Given the description of an element on the screen output the (x, y) to click on. 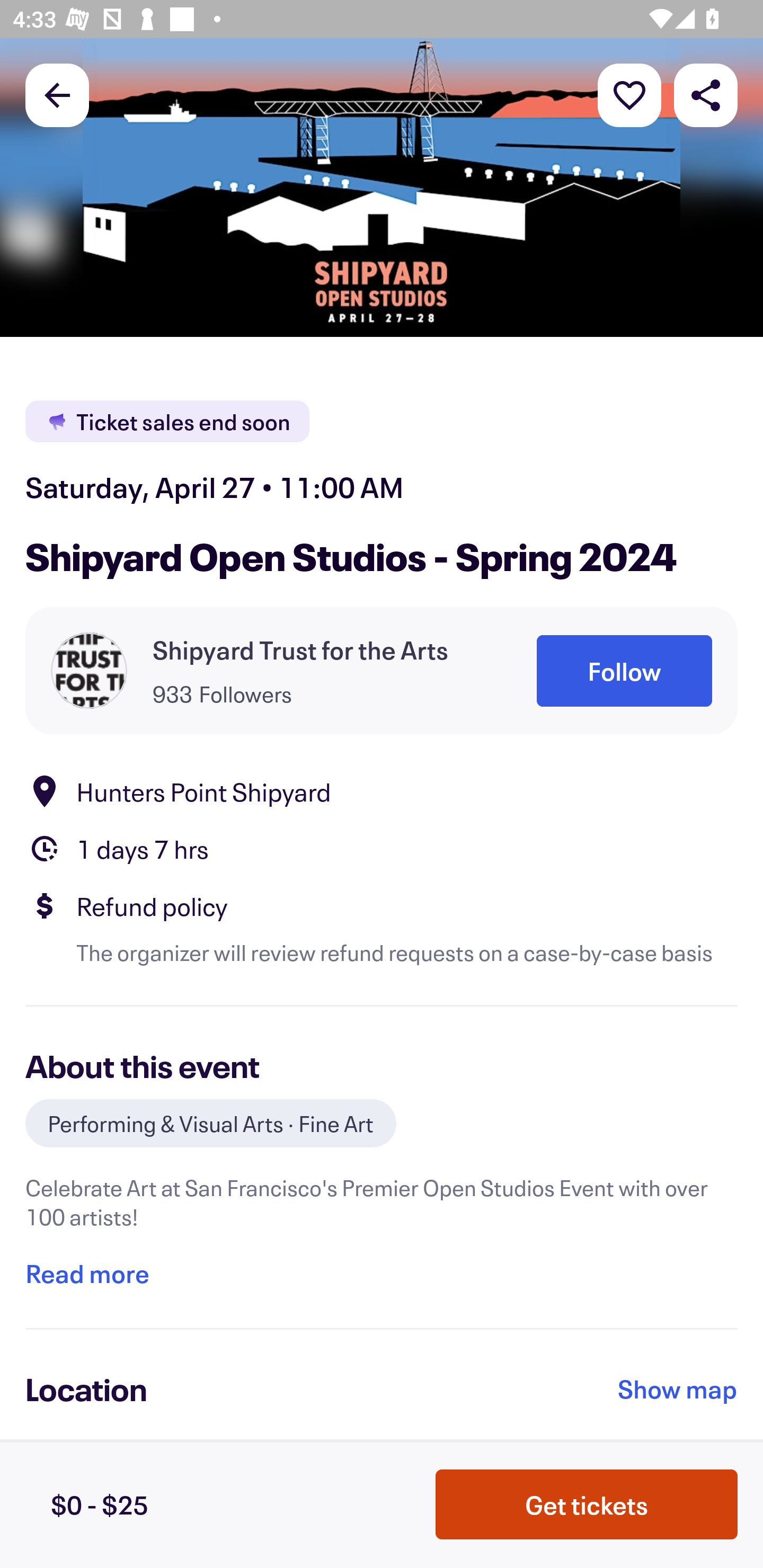
Back (57, 94)
More (629, 94)
Share (705, 94)
Shipyard Trust for the Arts (300, 649)
Organizer profile picture (89, 669)
Follow (623, 670)
Location Hunters Point Shipyard (381, 790)
Read more (87, 1272)
Show map (677, 1388)
Get tickets (586, 1504)
